Given the description of an element on the screen output the (x, y) to click on. 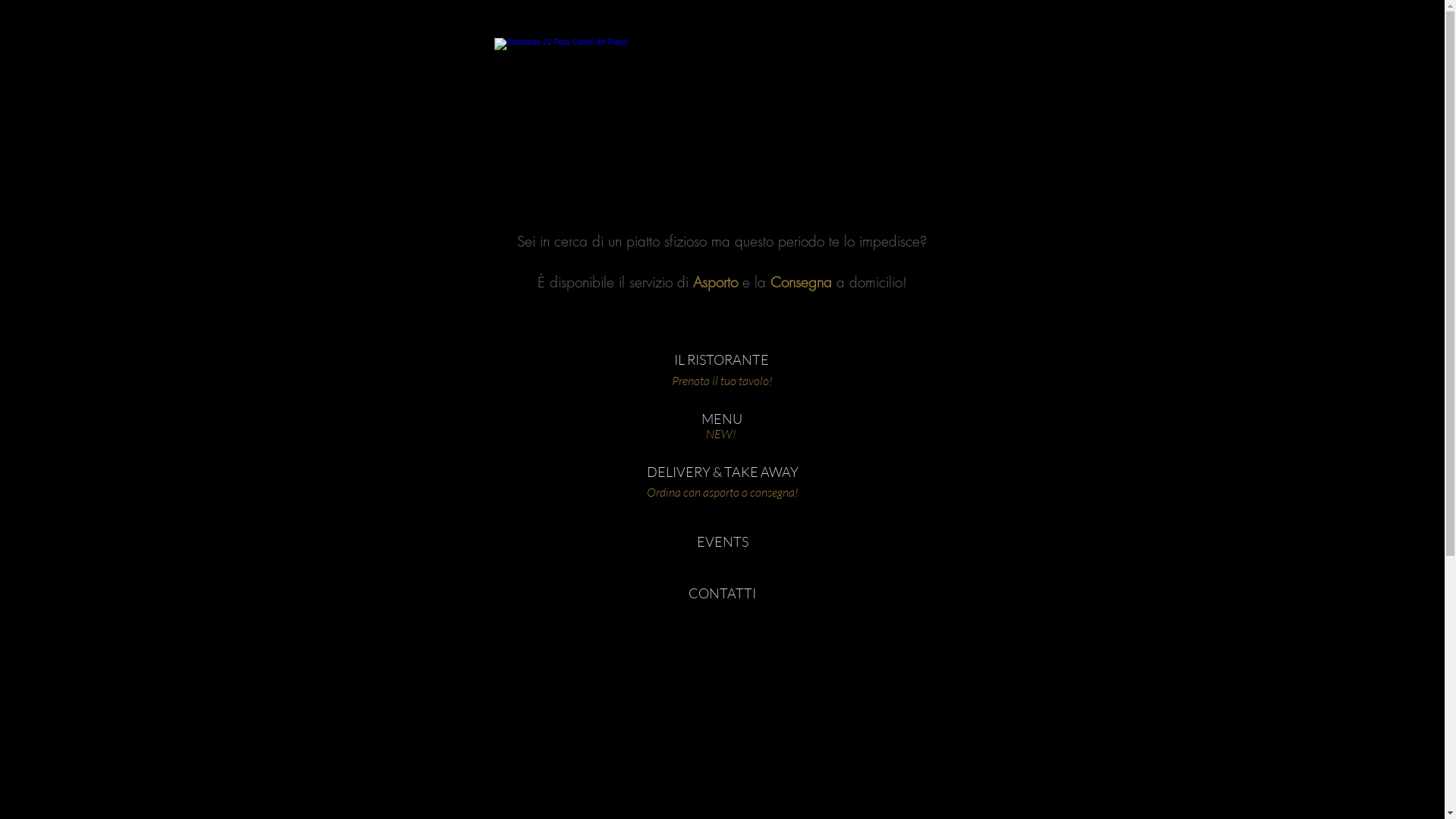
DELIVERY & TAKE AWAY Element type: text (721, 472)
EVENTS Element type: text (721, 542)
Ristorante 22 Posti Castel del Piano Element type: hover (720, 110)
CONTATTI Element type: text (721, 593)
IL RISTORANTE Element type: text (721, 360)
MENU Element type: text (721, 419)
